Given the description of an element on the screen output the (x, y) to click on. 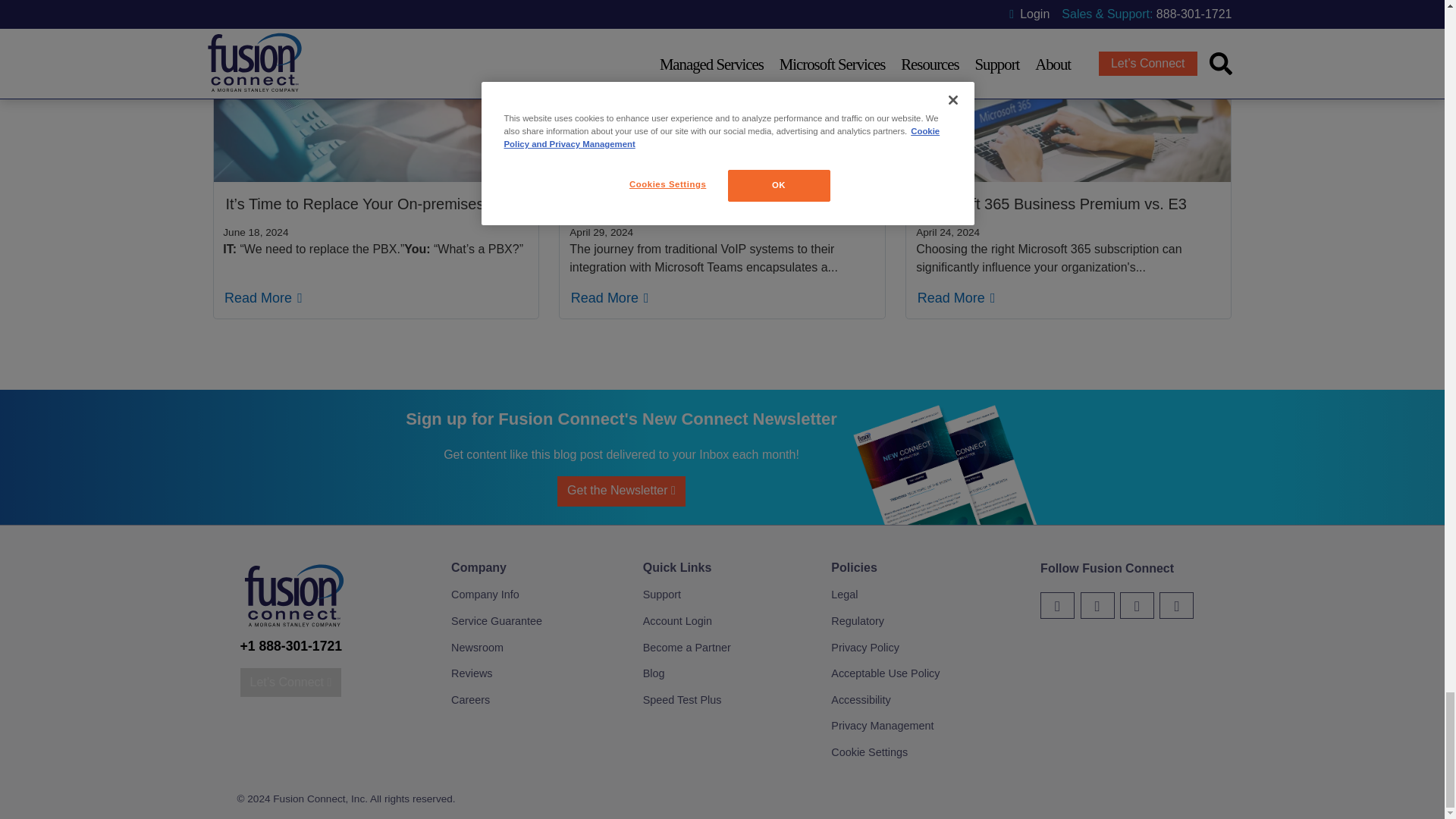
Fusion Connect Twitter (1057, 605)
Fusion Connect Facebook (1097, 605)
Fusion Connect YouTube (1136, 605)
Fusion Connect LinkedIn (1175, 605)
Fusion Connect - A Morgan Stanley Company (292, 627)
